Given the description of an element on the screen output the (x, y) to click on. 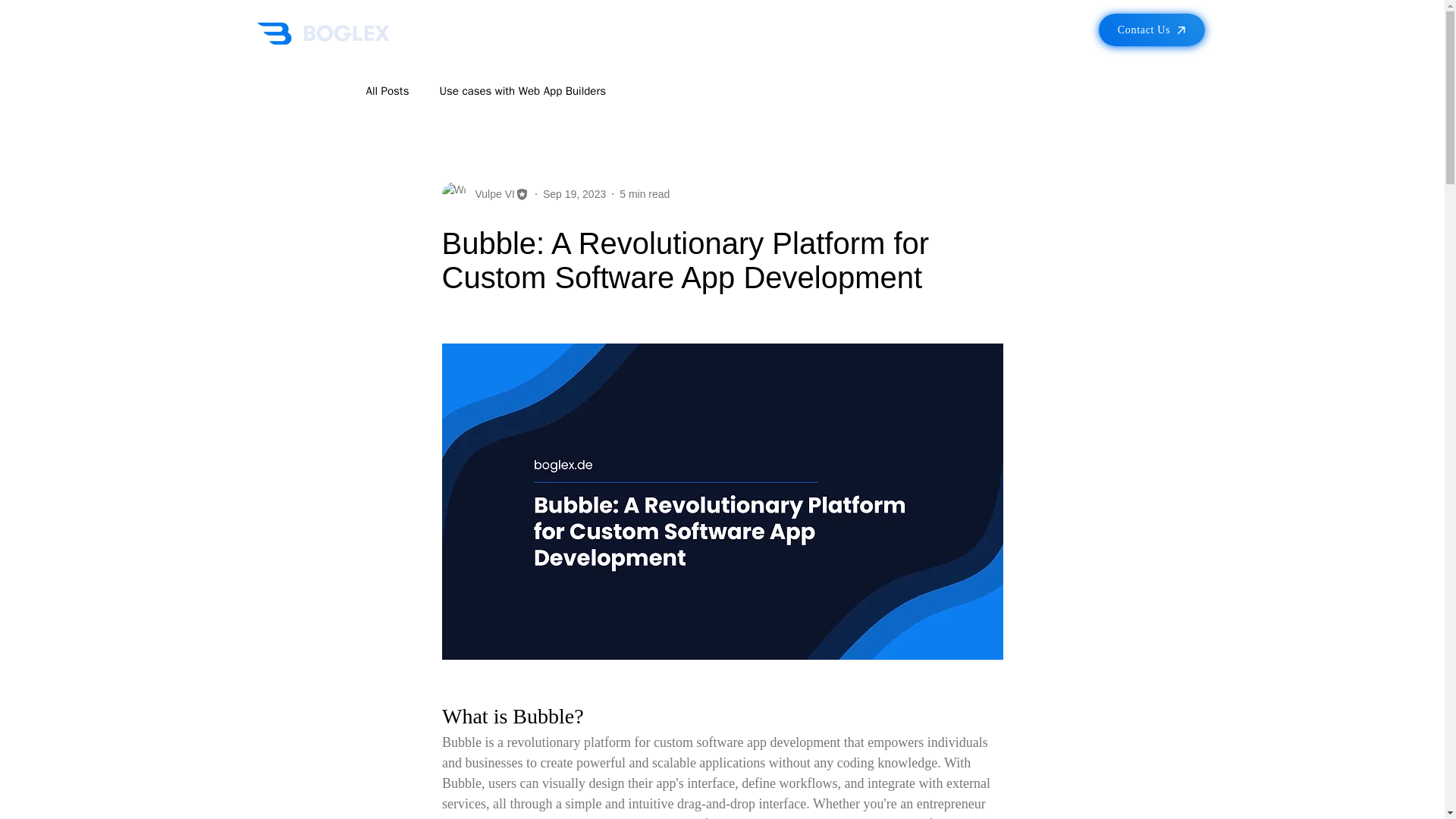
Blog (915, 33)
Open Positions (980, 33)
Contact Us (1150, 29)
App Price Calculator (634, 33)
Boglex (322, 33)
Boglex (545, 33)
Blog (915, 33)
Sep 19, 2023 (574, 193)
Partners (733, 33)
Vulpe VI (489, 194)
Price Calculator (634, 33)
Vulpe VI (484, 193)
All Posts (387, 90)
Use cases with Web App Builders (522, 90)
Blog (387, 90)
